Given the description of an element on the screen output the (x, y) to click on. 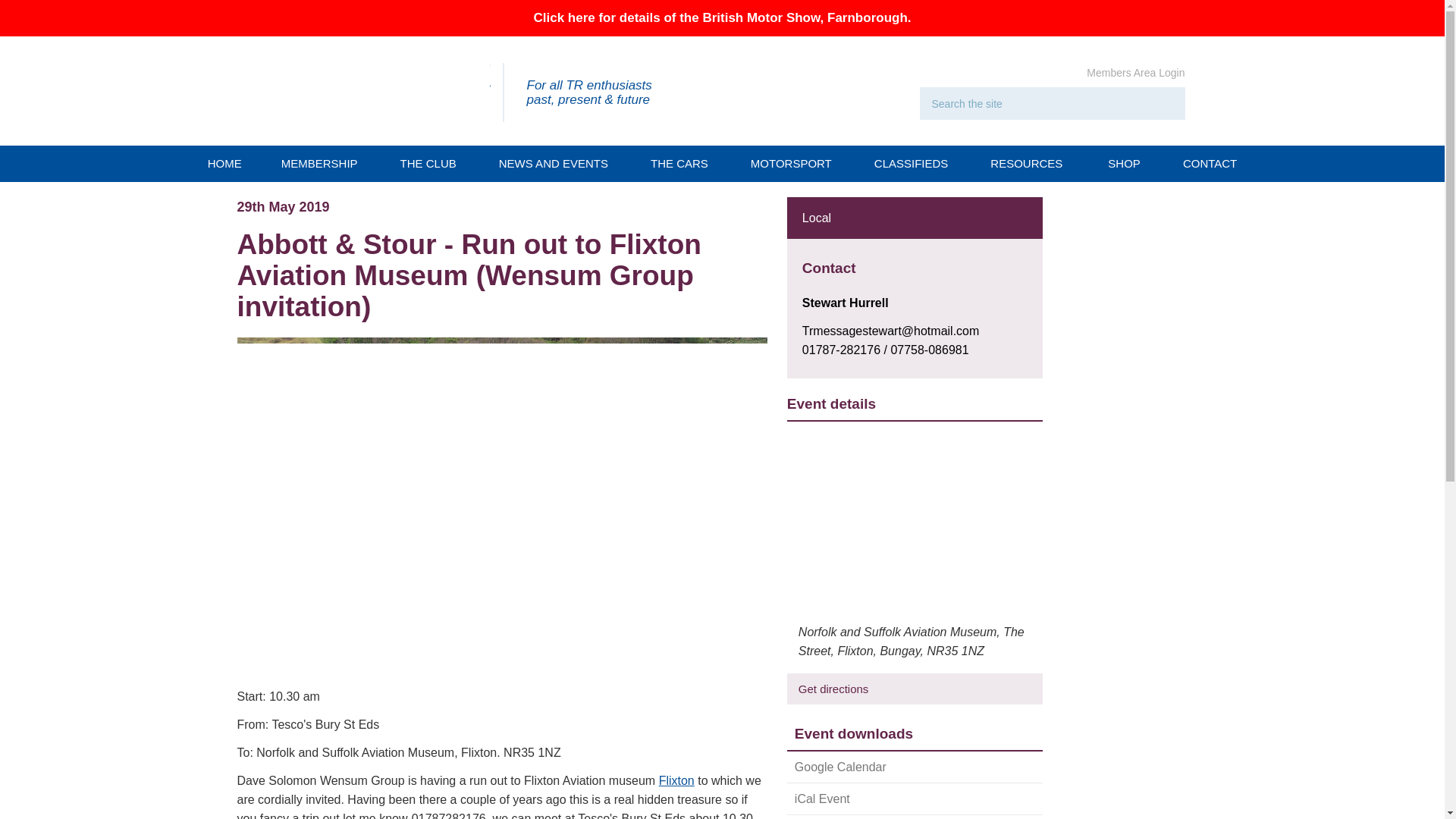
TR Register (374, 90)
NEWS AND EVENTS (555, 163)
THE CLUB (430, 163)
MOTORSPORT (794, 163)
Members Area Login (1135, 72)
THE CARS (681, 163)
MEMBERSHIP (322, 163)
HOME (224, 163)
